Given the description of an element on the screen output the (x, y) to click on. 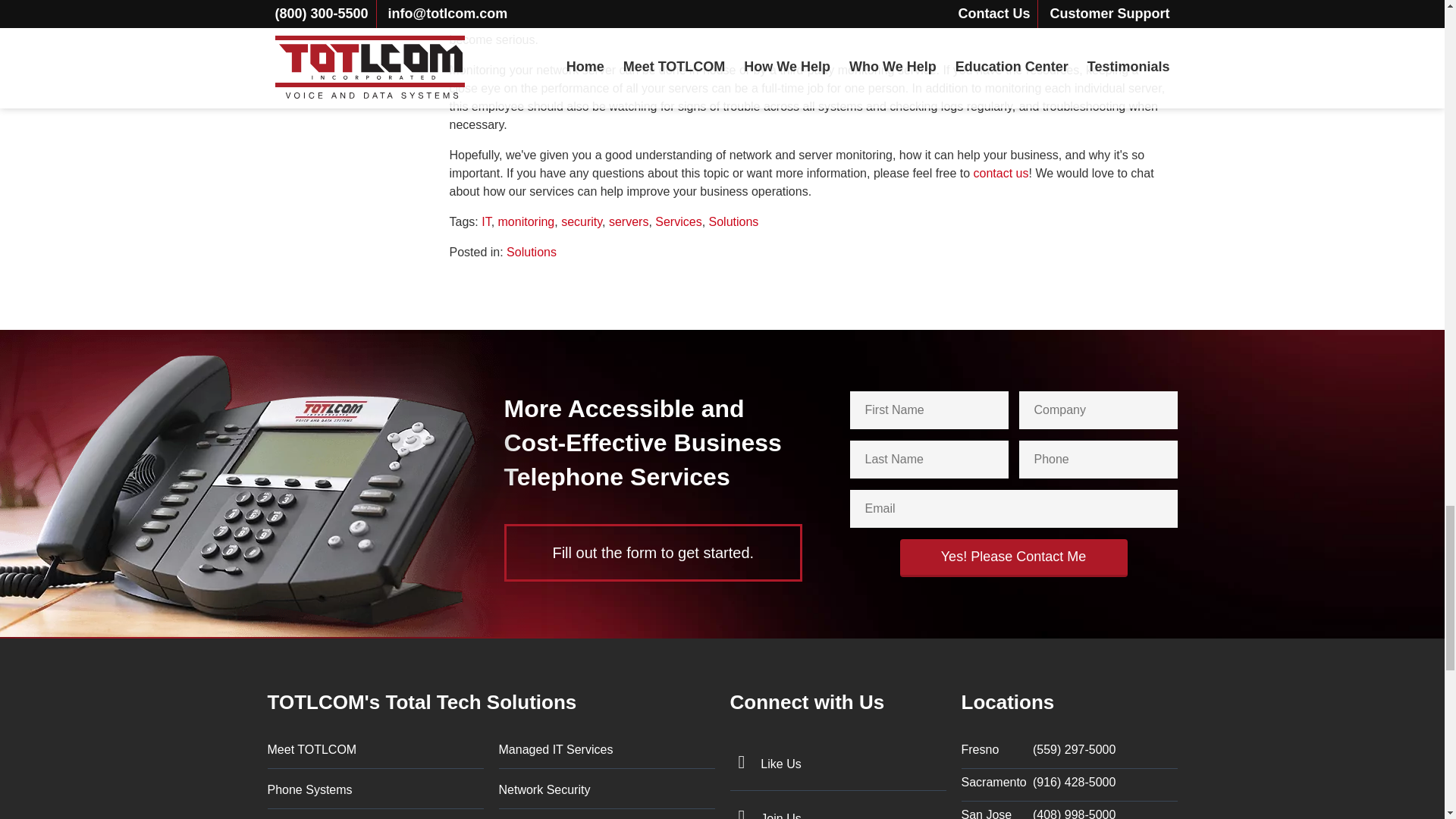
Services (678, 221)
security (581, 221)
Solutions (531, 251)
Yes! Please Contact Me (1012, 557)
monitoring (525, 221)
Solutions (733, 221)
contact us (1001, 173)
servers (627, 221)
